Given the description of an element on the screen output the (x, y) to click on. 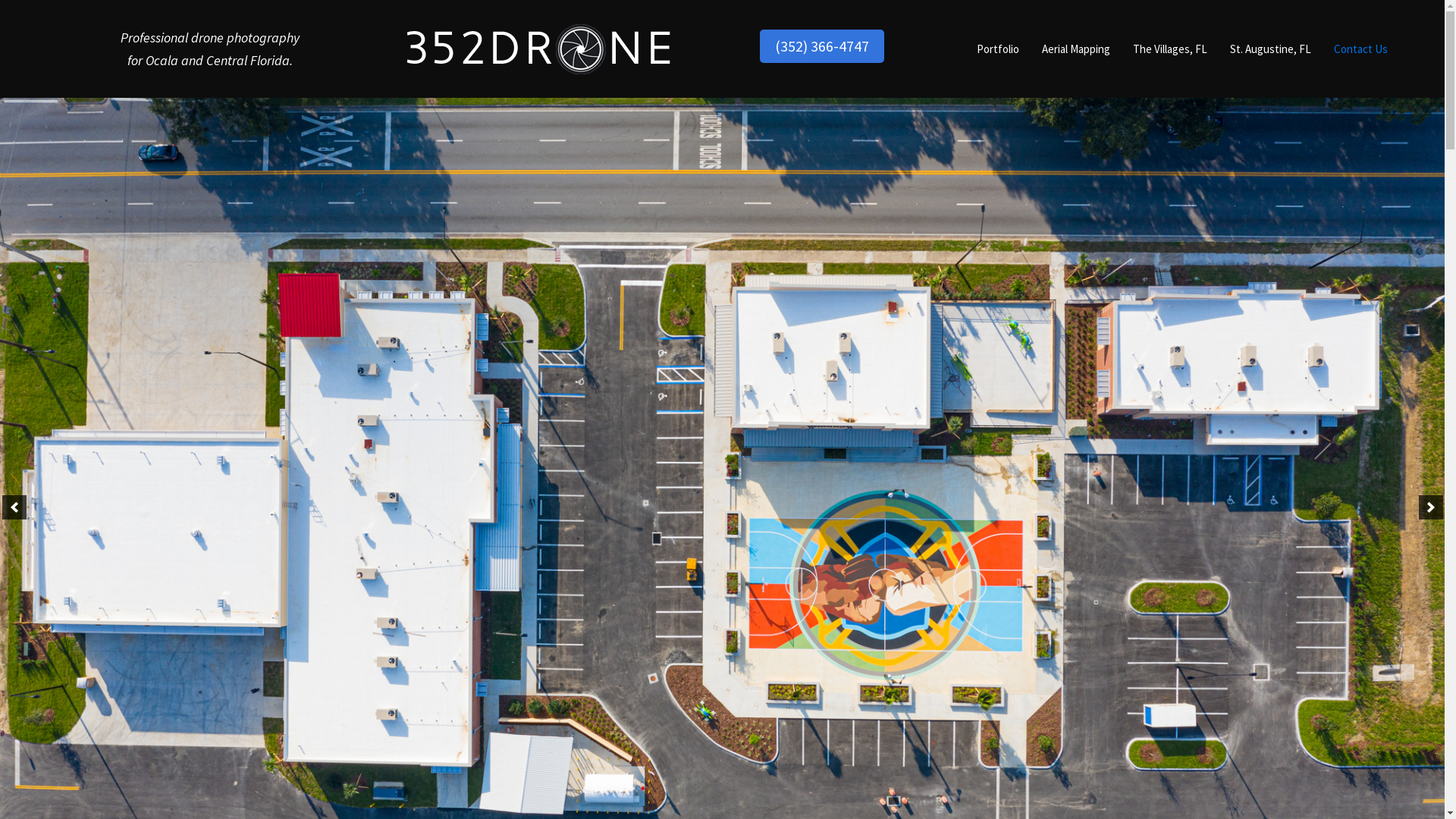
Portfolio Element type: text (997, 48)
The Villages, FL Element type: text (1169, 48)
St. Augustine, FL Element type: text (1270, 48)
Contact Us Element type: text (1360, 48)
(352) 366-4747 Element type: text (821, 45)
Aerial Mapping Element type: text (1075, 48)
Skip to primary navigation Element type: text (0, 0)
